Given the description of an element on the screen output the (x, y) to click on. 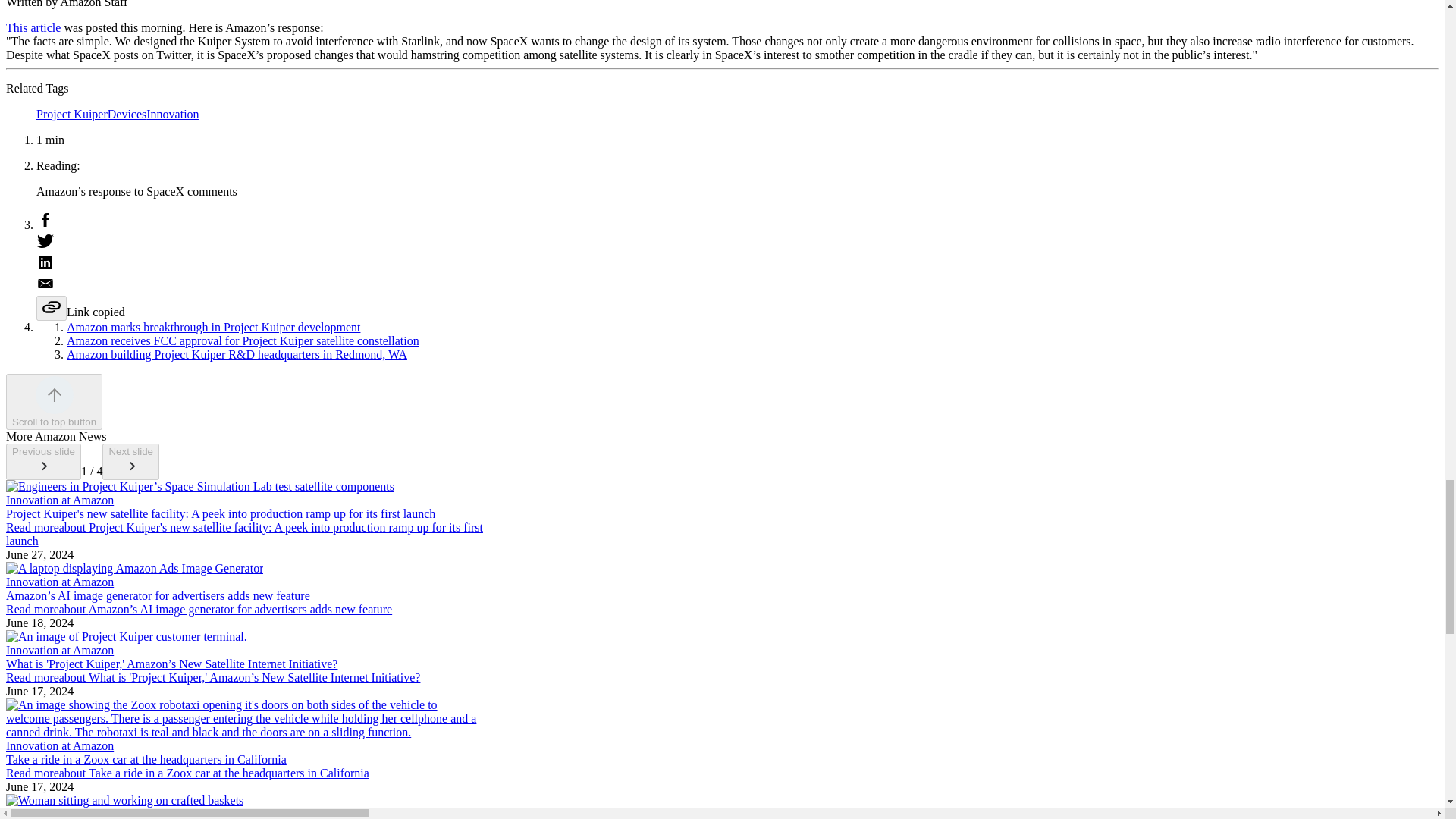
LinkedIn Share (737, 263)
Scroll to top button (53, 401)
Twitter Share (737, 242)
copy link (51, 308)
email (737, 284)
Facebook Share (737, 220)
